Given the description of an element on the screen output the (x, y) to click on. 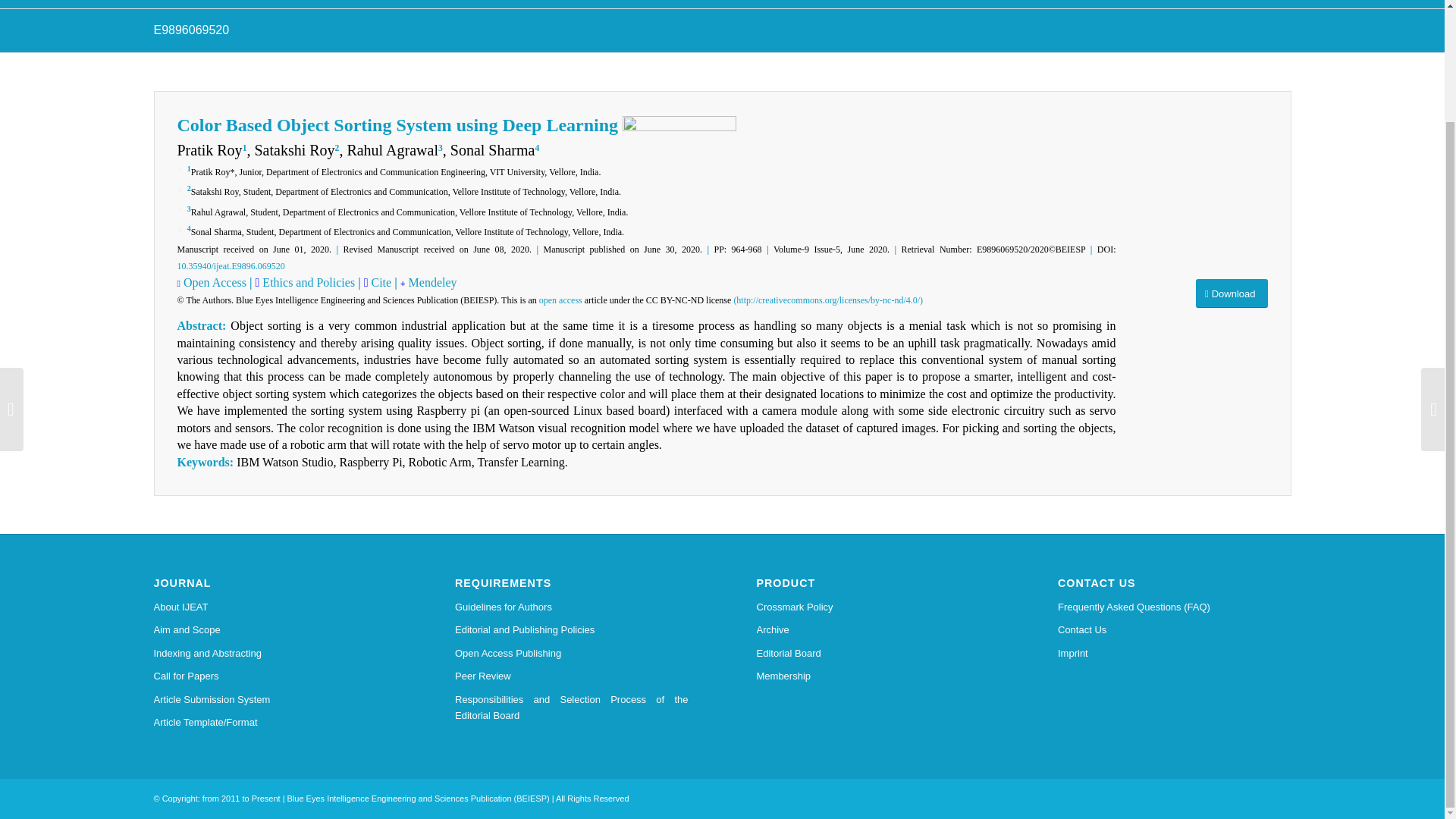
Article Submission System (269, 699)
Download (893, 3)
Indexing and Abstracting (353, 3)
Archive (873, 630)
Peer Review (571, 676)
Open Access (214, 282)
Aim and Scope (126, 3)
Archives (671, 3)
FAQ (1013, 3)
